Given the description of an element on the screen output the (x, y) to click on. 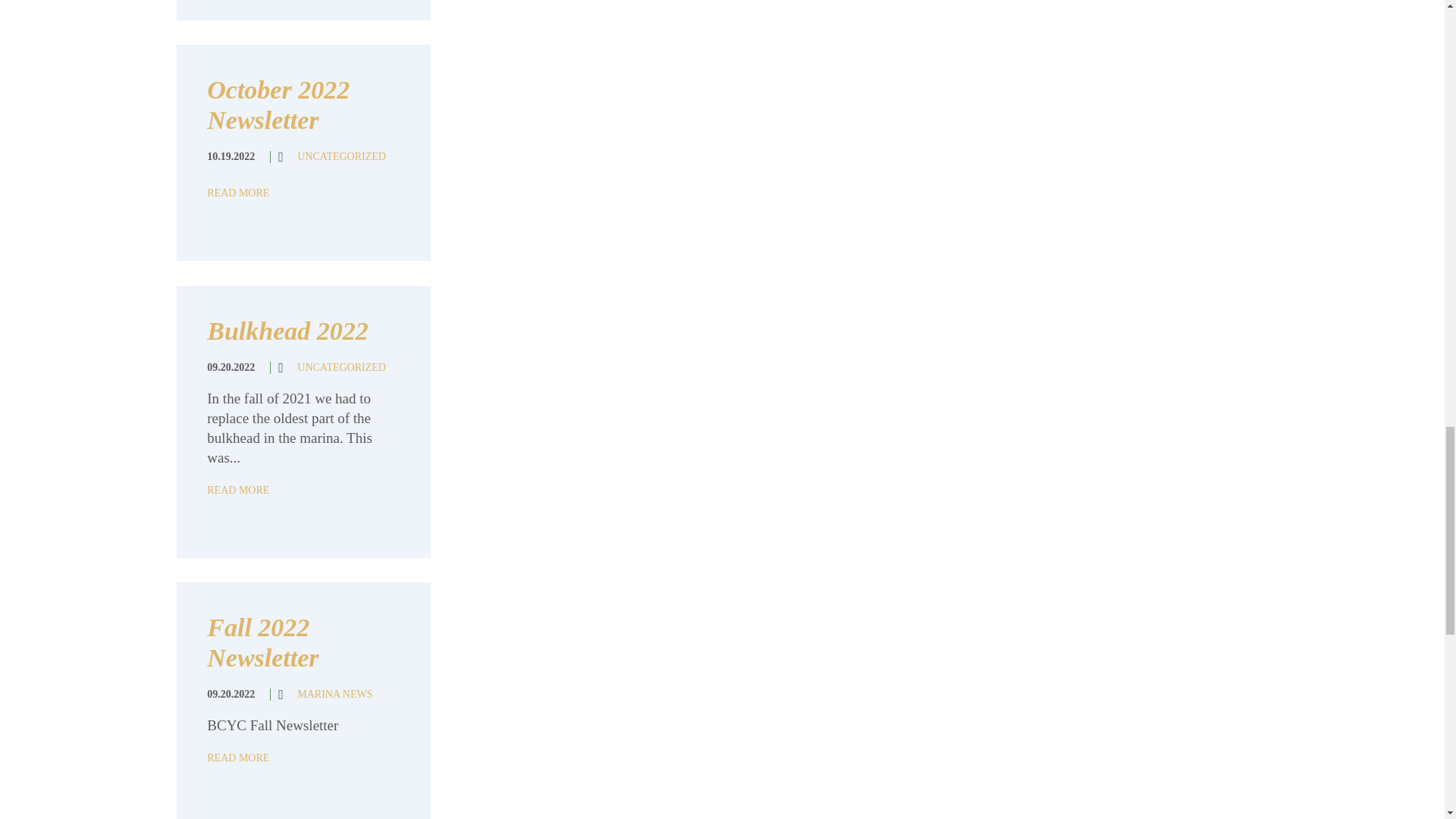
READ MORE (237, 490)
UNCATEGORIZED (341, 367)
MARINA NEWS (334, 694)
Fall 2022 Newsletter (262, 642)
Bulkhead 2022 (287, 330)
UNCATEGORIZED (341, 156)
October 2022 Newsletter (277, 105)
READ MORE (237, 193)
READ MORE (237, 757)
